Given the description of an element on the screen output the (x, y) to click on. 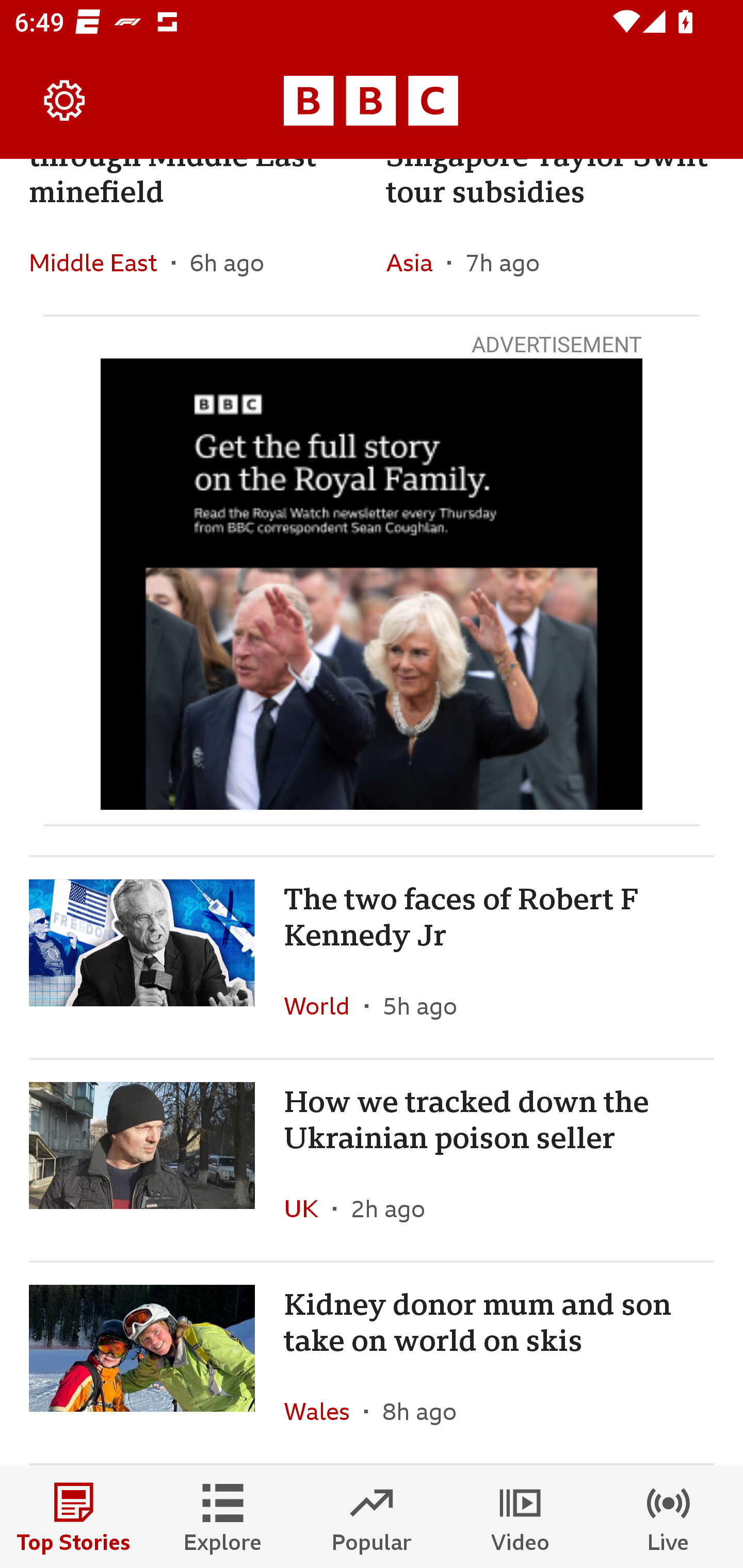
Settings (64, 100)
Middle East In the section Middle East (99, 262)
Asia In the section Asia (416, 262)
World In the section World (323, 1005)
UK In the section UK (307, 1208)
Wales In the section Wales (323, 1410)
Explore (222, 1517)
Popular (371, 1517)
Video (519, 1517)
Live (668, 1517)
